Given the description of an element on the screen output the (x, y) to click on. 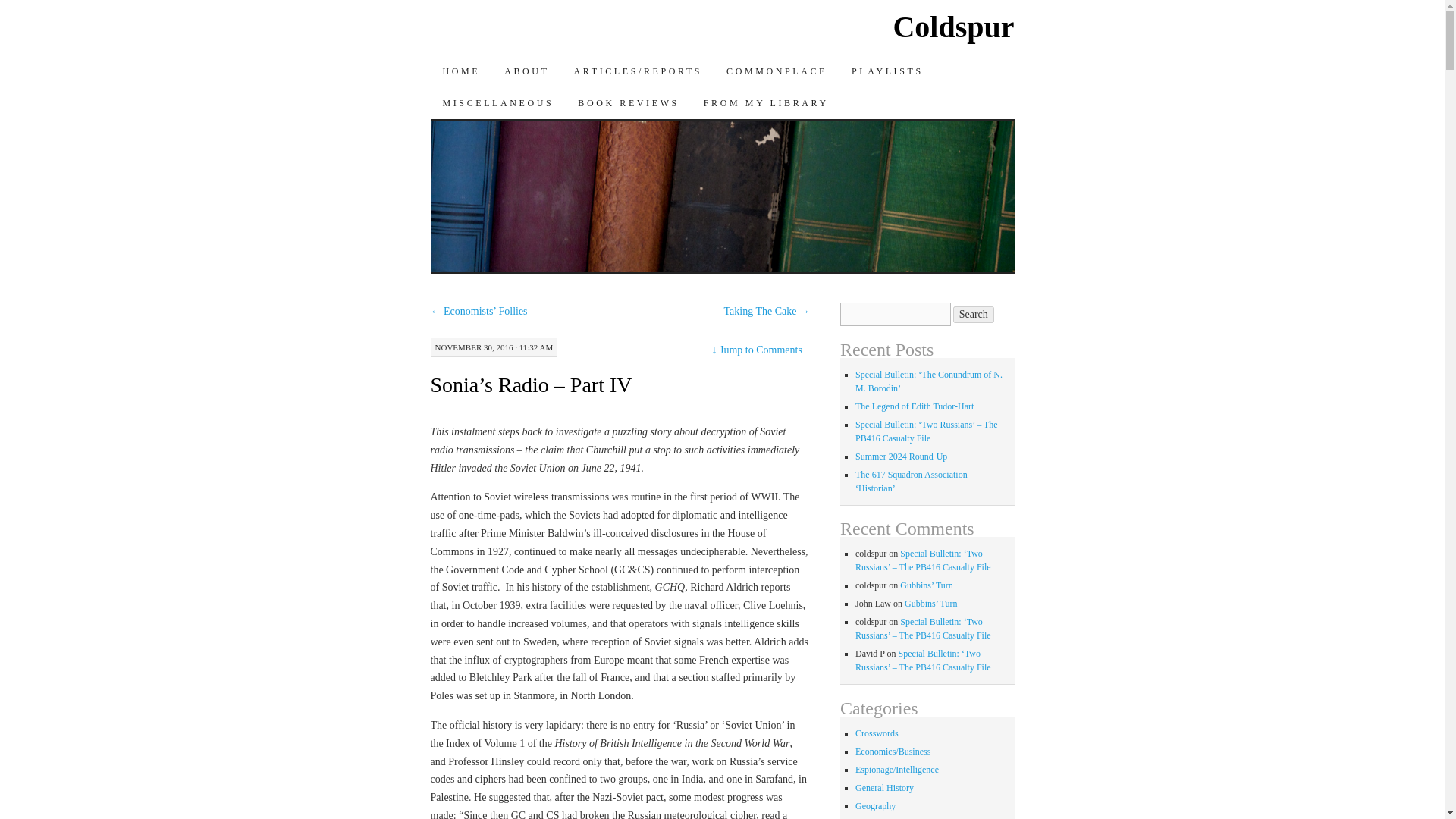
Crosswords (877, 733)
Search (973, 314)
MISCELLANEOUS (498, 102)
Coldspur (952, 26)
COMMONPLACE (777, 70)
Summer 2024 Round-Up (901, 456)
ABOUT (526, 70)
BOOK REVIEWS (628, 102)
PLAYLISTS (888, 70)
The Legend of Edith Tudor-Hart (915, 406)
